Given the description of an element on the screen output the (x, y) to click on. 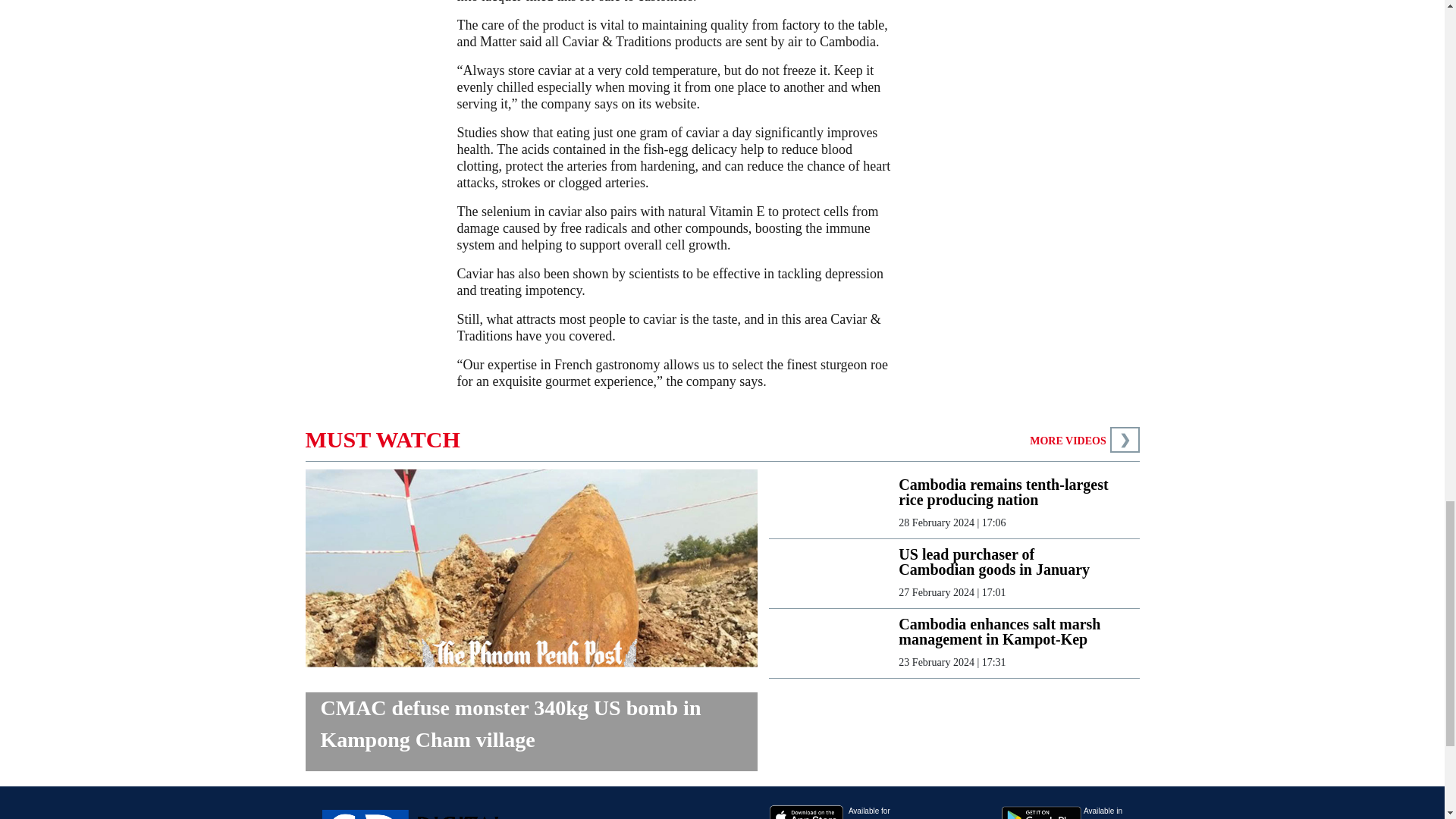
Cambodia remains tenth-largest rice producing nation (1005, 491)
CMAC defuse monster 340kg US bomb in Kampong Cham village (530, 731)
MORE VIDEOS (1067, 440)
